Given the description of an element on the screen output the (x, y) to click on. 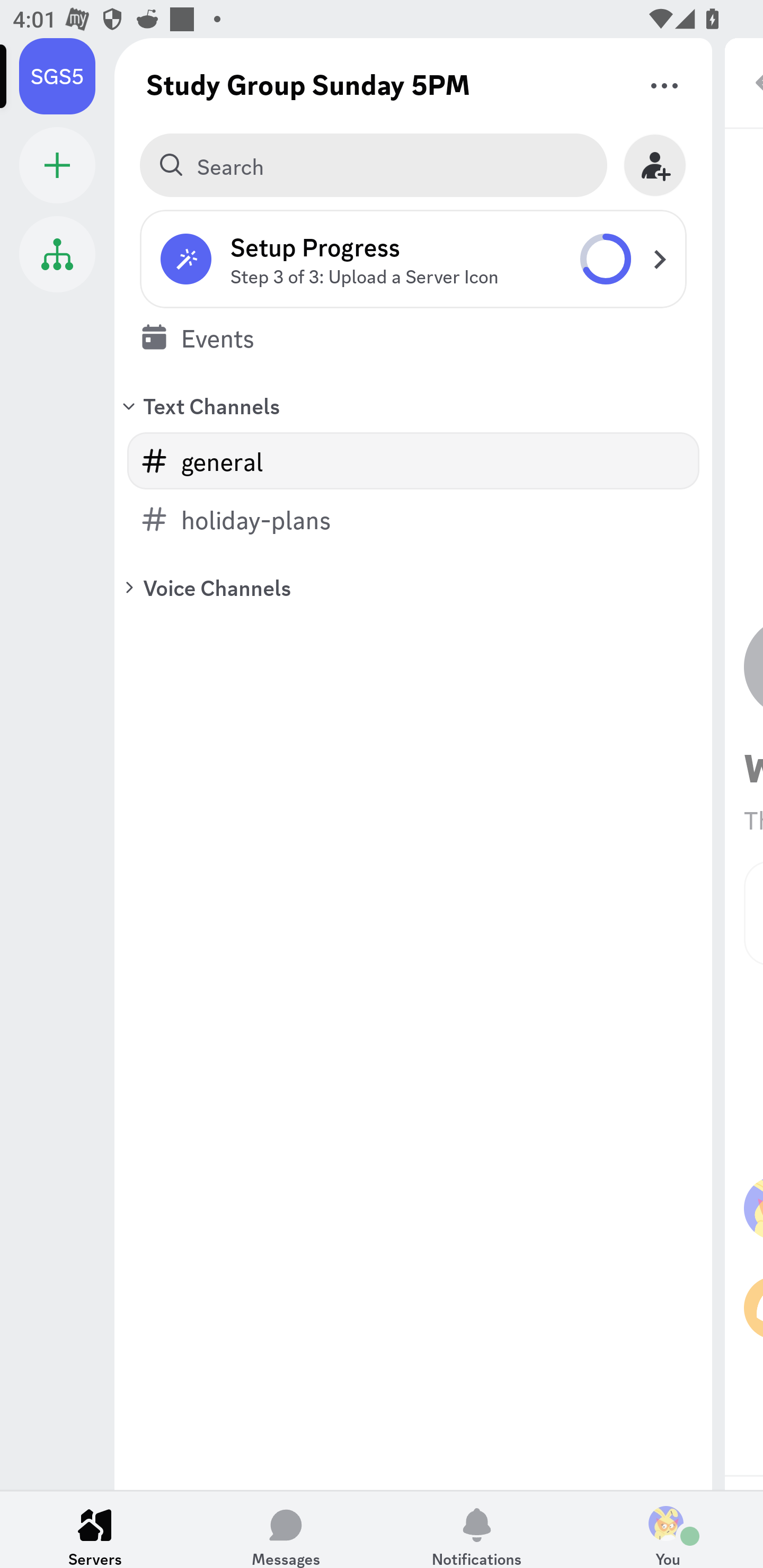
  Study Group Sunday 5PM SGS5 (66, 75)
Study Group Sunday 5PM (308, 83)
Add a Server (57, 165)
Search (373, 165)
Invite (654, 165)
Student Hub (57, 253)
Events (413, 336)
Text Channels (412, 404)
general (text channel) general (413, 460)
holiday-plans (text channel) holiday-plans (413, 518)
Voice Channels (412, 586)
Servers (95, 1529)
Messages (285, 1529)
Notifications (476, 1529)
You (667, 1529)
